Given the description of an element on the screen output the (x, y) to click on. 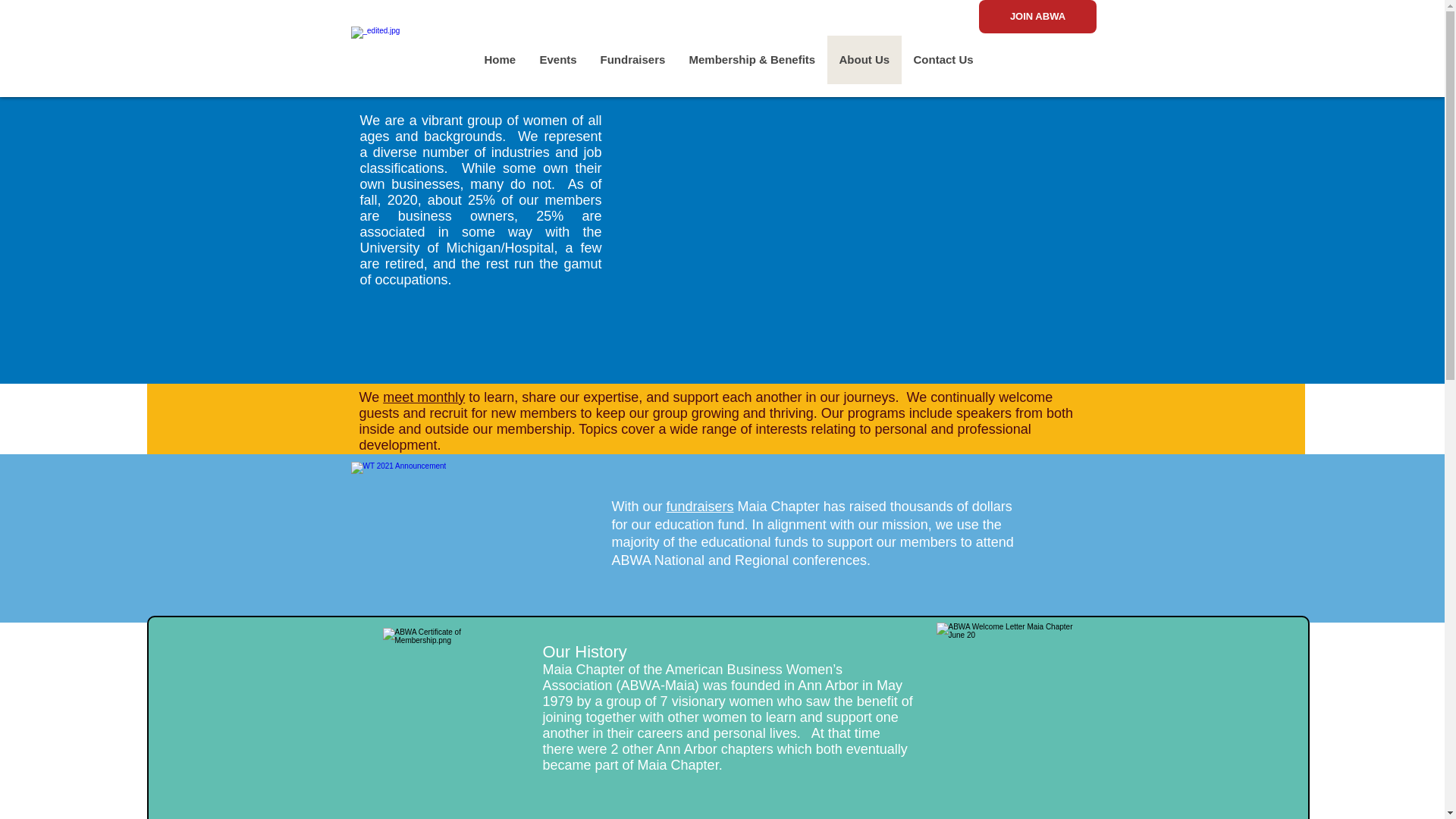
Fundraisers (632, 60)
JOIN ABWA (1037, 16)
Contact Us (942, 60)
Events (557, 60)
Home (500, 60)
About Us (864, 60)
fundraisers (699, 506)
meet monthly (423, 396)
